Given the description of an element on the screen output the (x, y) to click on. 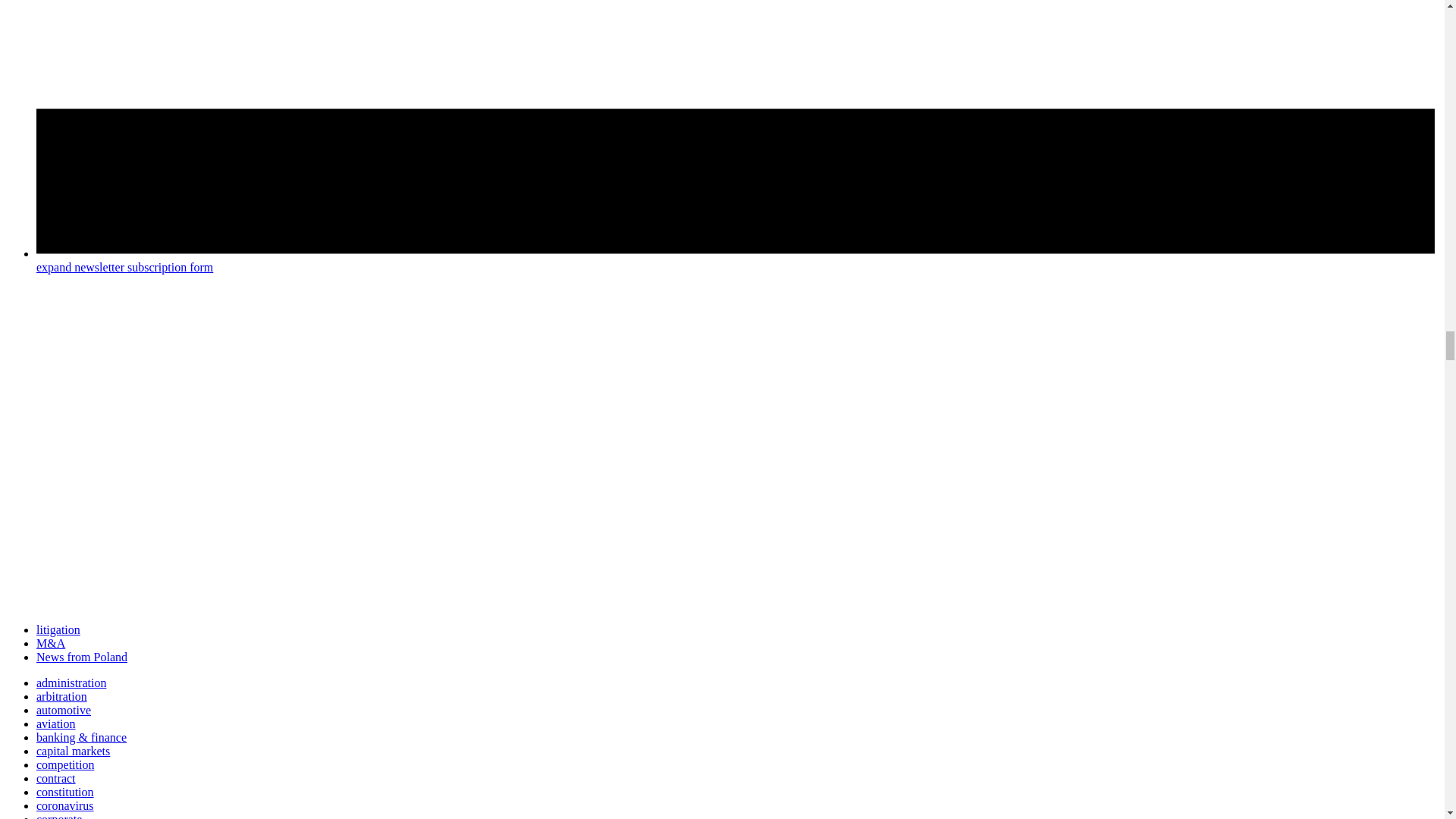
competition (65, 764)
arbitration (61, 696)
constitution (65, 791)
corporate (58, 816)
capital markets (73, 750)
automotive (63, 709)
contract (55, 778)
administration (71, 682)
coronavirus (65, 805)
litigation (58, 629)
News from Poland (82, 656)
aviation (55, 723)
